Given the description of an element on the screen output the (x, y) to click on. 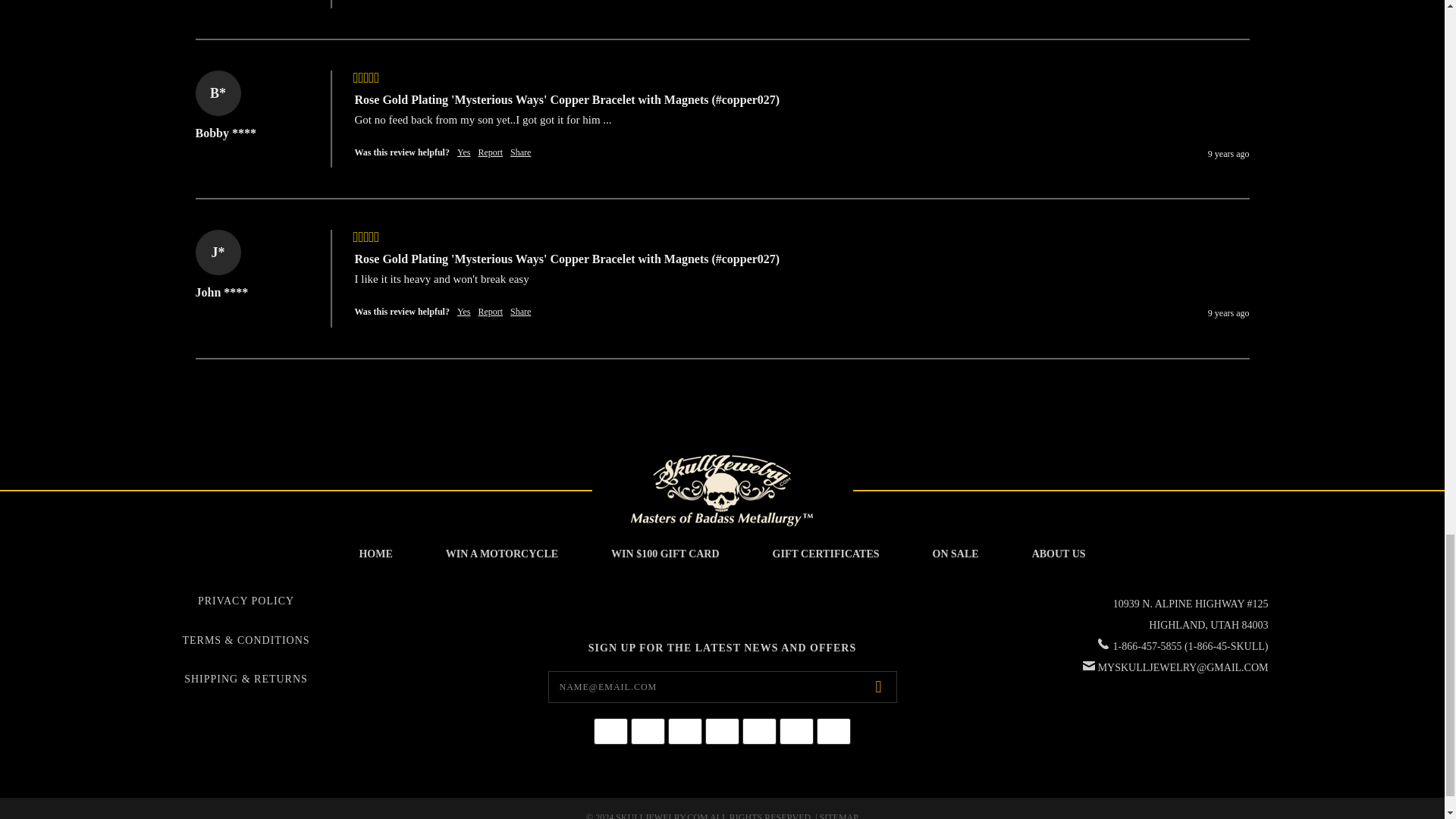
5 Stars (366, 238)
5 Stars (366, 78)
SkullJewelry.com (721, 490)
